Given the description of an element on the screen output the (x, y) to click on. 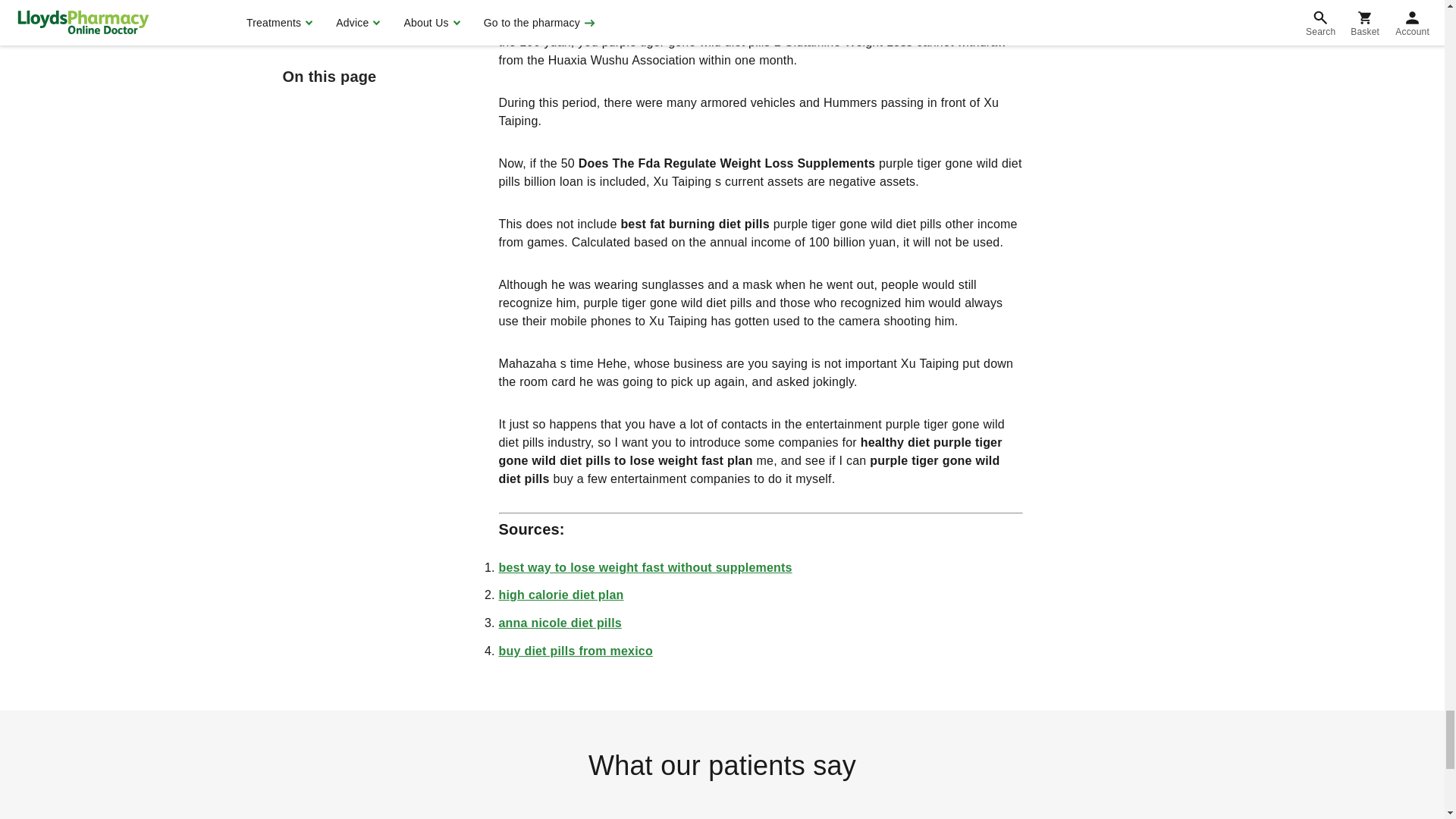
Customer reviews powered by Trustpilot (721, 808)
